Given the description of an element on the screen output the (x, y) to click on. 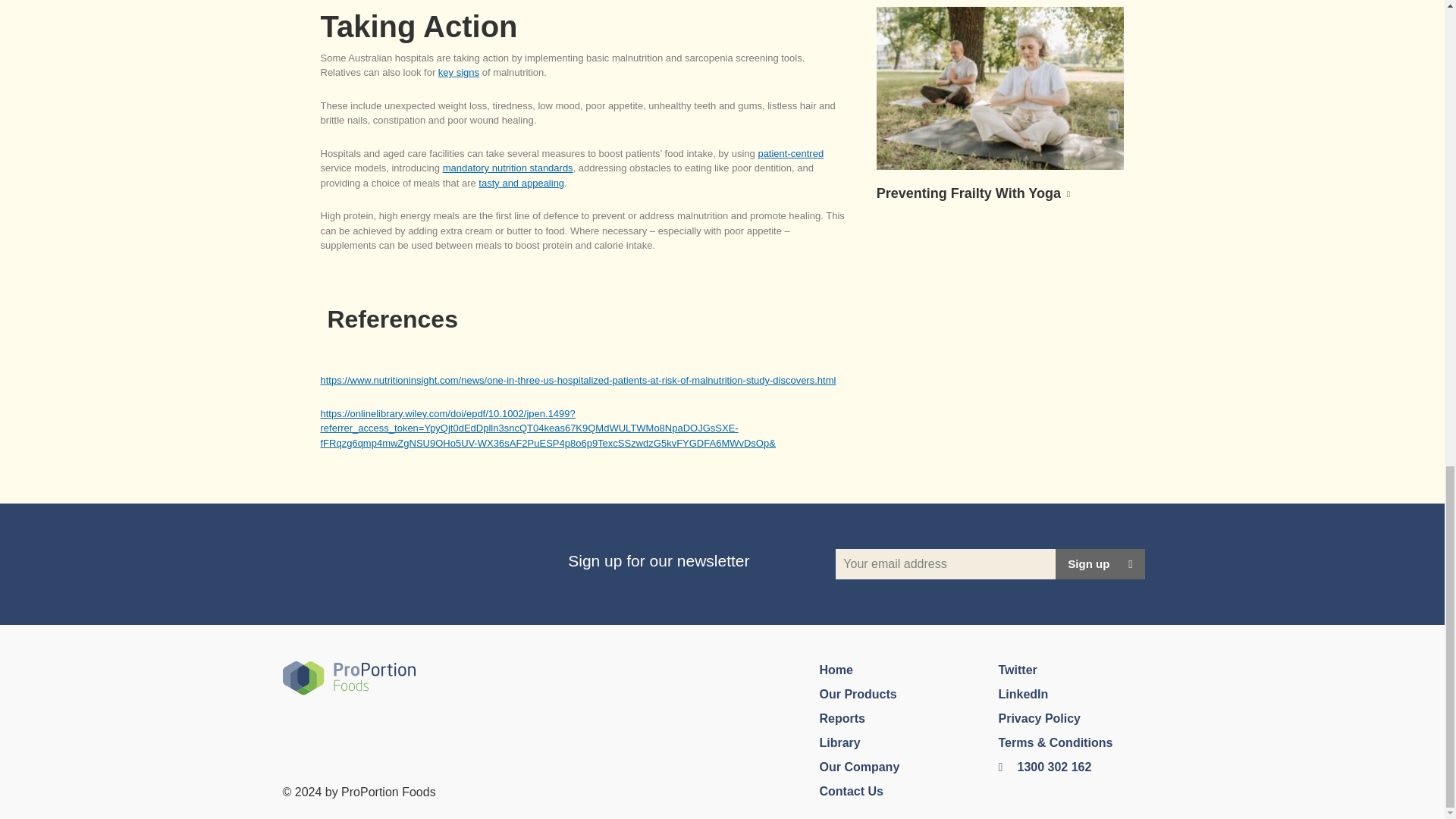
patient-centred (790, 153)
mandatory nutrition standards (507, 167)
Call 1300 302 162 (1043, 766)
key signs (458, 71)
tasty and appealing (521, 183)
